Given the description of an element on the screen output the (x, y) to click on. 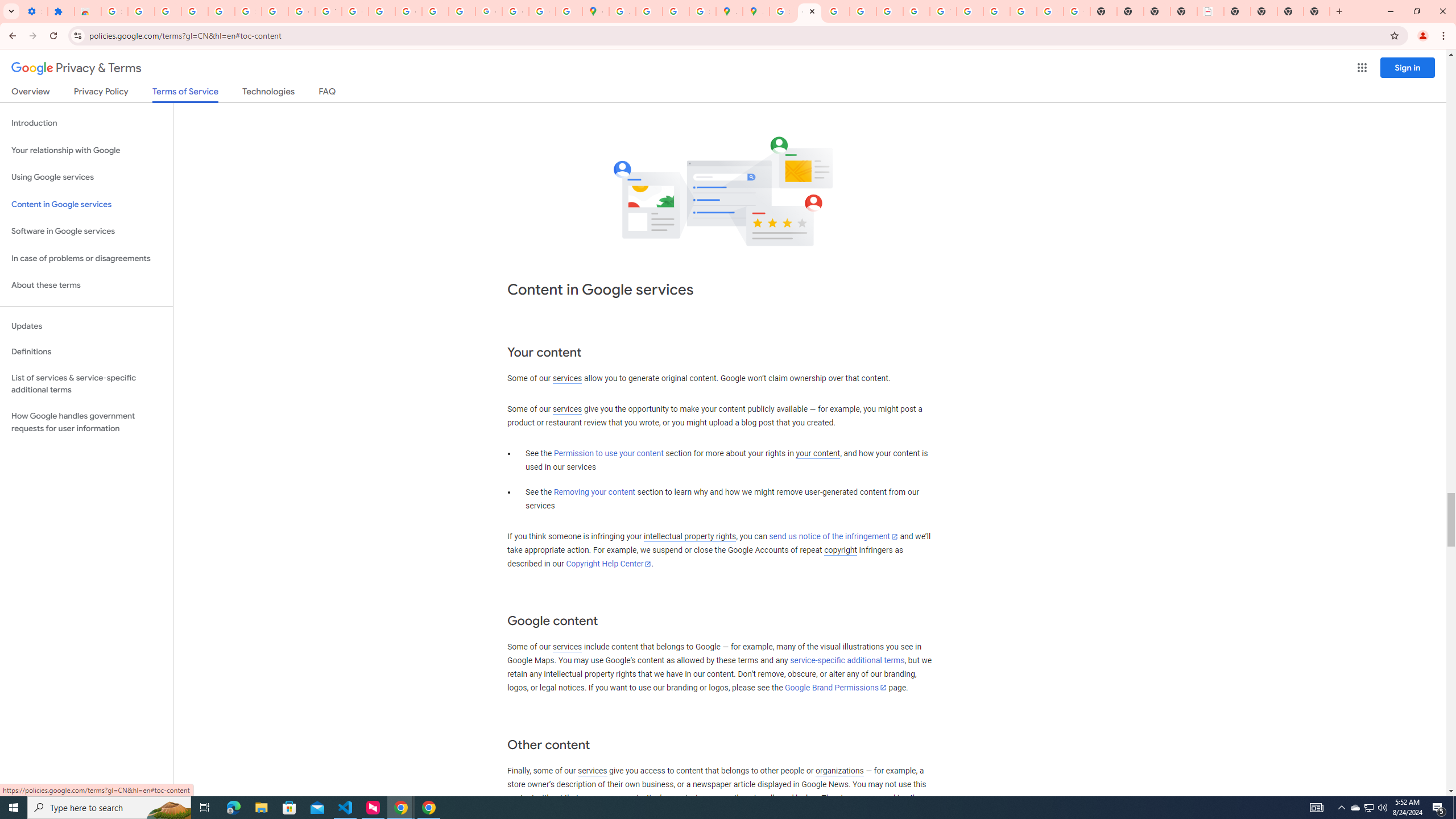
Delete photos & videos - Computer - Google Photos Help (167, 11)
YouTube (328, 11)
Permission to use your content (608, 453)
service-specific additional terms (847, 660)
YouTube (943, 11)
Content in Google services (86, 204)
About these terms (86, 284)
